Given the description of an element on the screen output the (x, y) to click on. 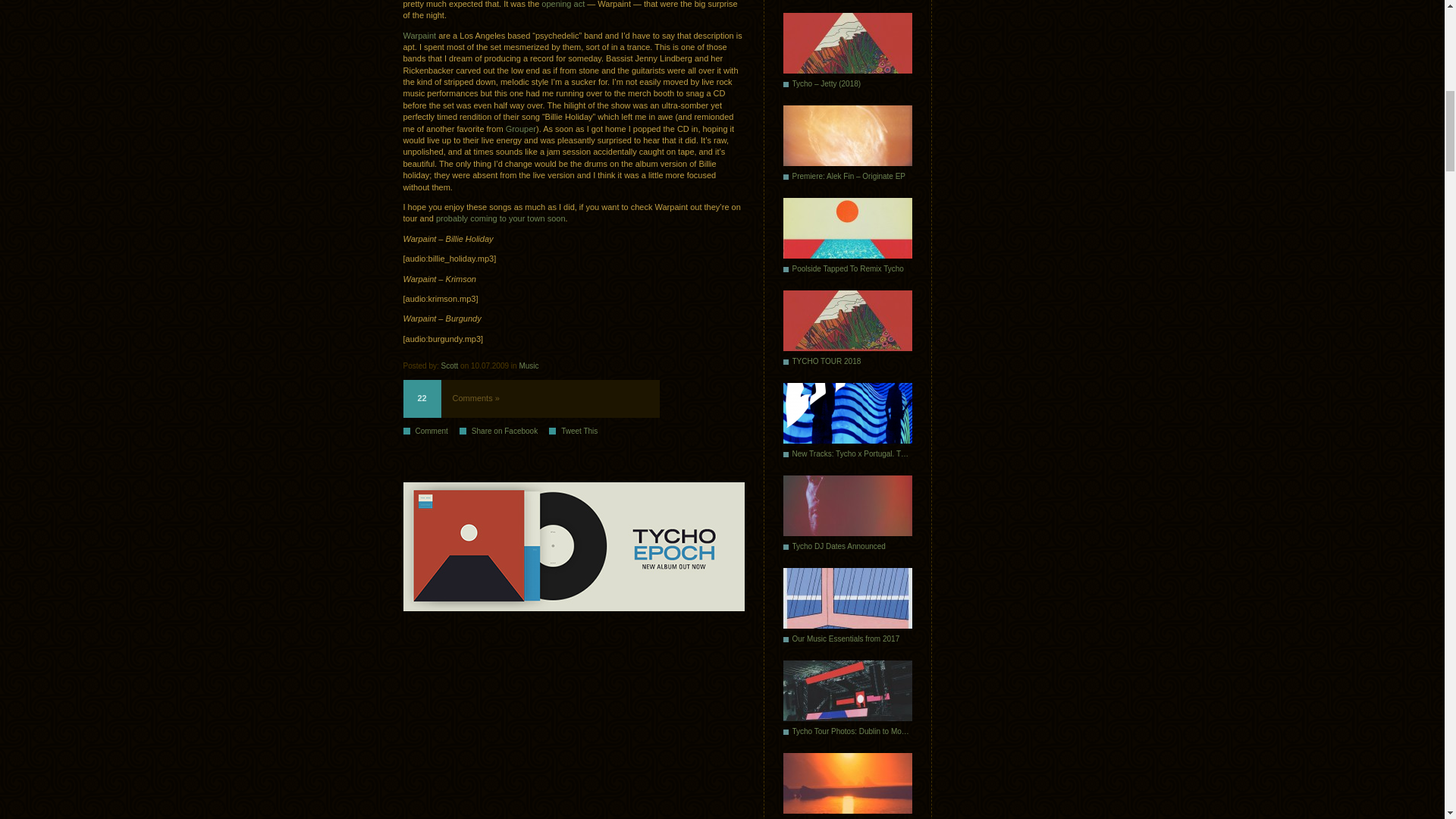
probably coming to your town soon (500, 217)
TYCHO TOUR 2018 (847, 331)
Grouper (520, 128)
Poolside Tapped To Remix Tycho (847, 239)
New Tycho Single: Easy (847, 1)
Posts by Scott (449, 365)
opening act (563, 4)
Tweet This (578, 430)
Share on Facebook (504, 430)
Music (528, 365)
Warpaint (419, 35)
Send this post to Twitter (578, 430)
Comment (431, 430)
Scott (449, 365)
